Given the description of an element on the screen output the (x, y) to click on. 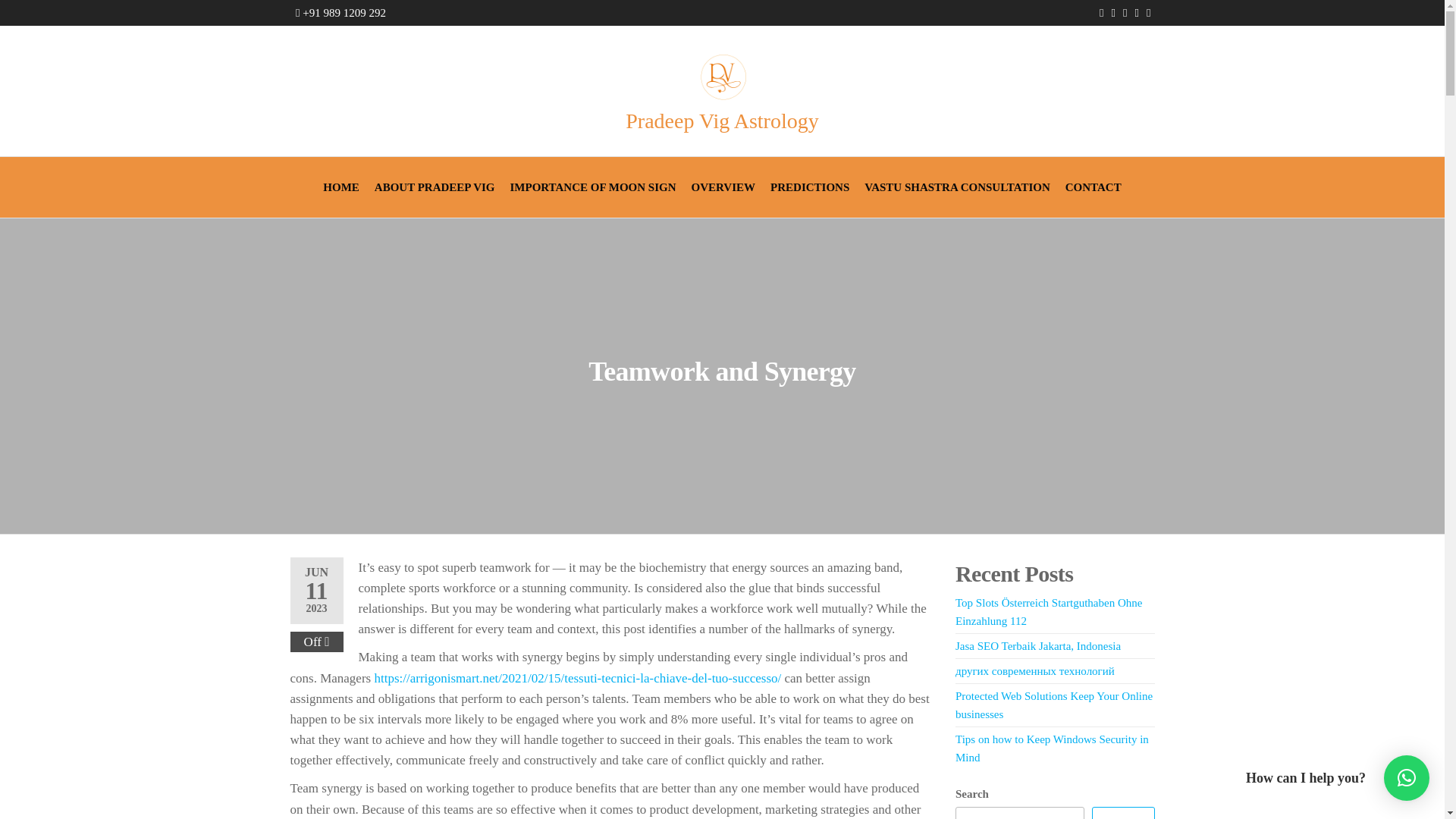
VASTU SHASTRA CONSULTATION (957, 187)
Pradeep Vig Astrology (722, 120)
Overview (723, 187)
OVERVIEW (723, 187)
IMPORTANCE OF MOON SIGN (592, 187)
CONTACT (1093, 187)
Importance Of Moon Sign (592, 187)
About  Pradeep Vig (434, 187)
Contact (1093, 187)
Predictions (809, 187)
